Given the description of an element on the screen output the (x, y) to click on. 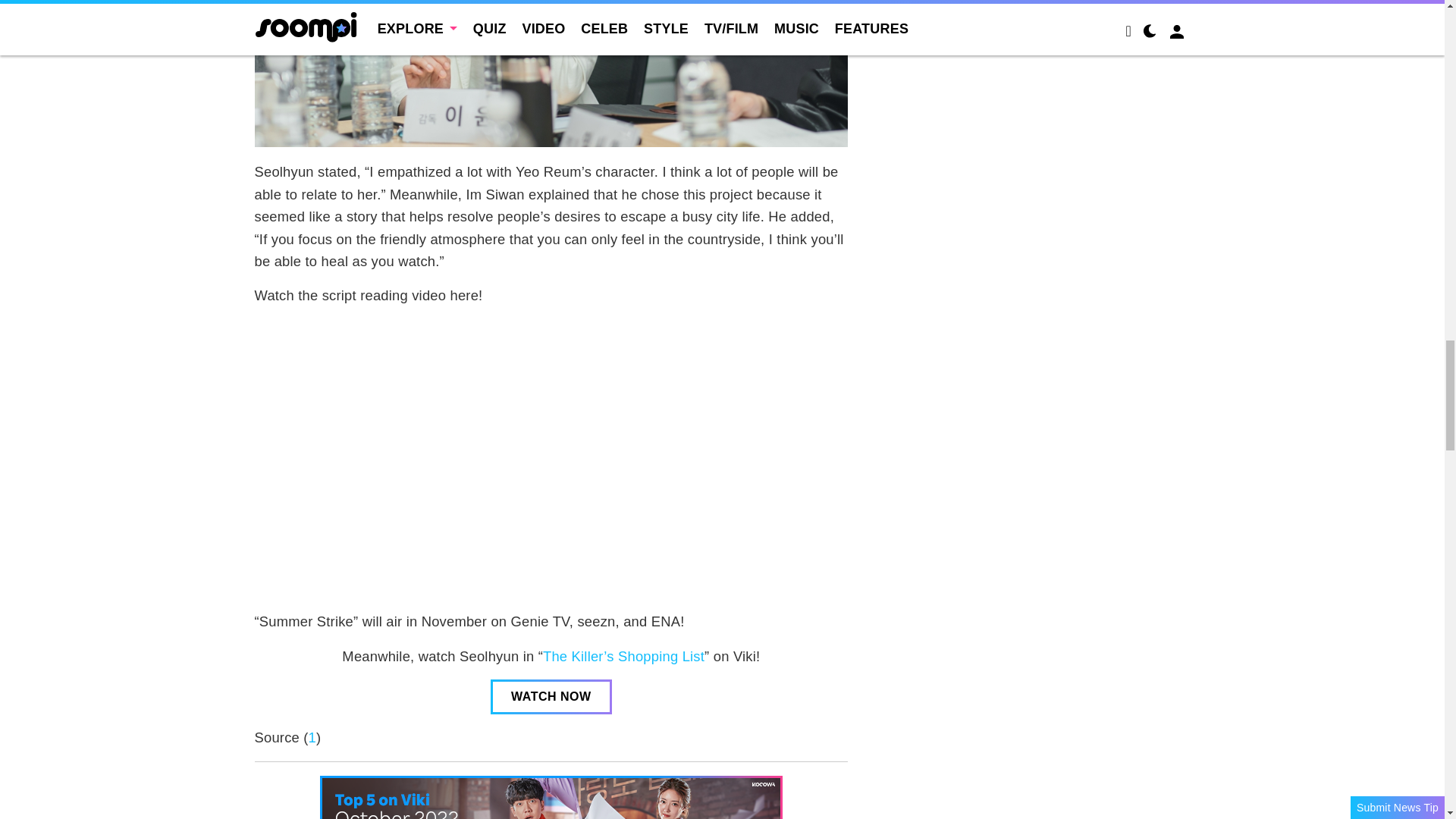
WATCH NOW (550, 696)
